Given the description of an element on the screen output the (x, y) to click on. 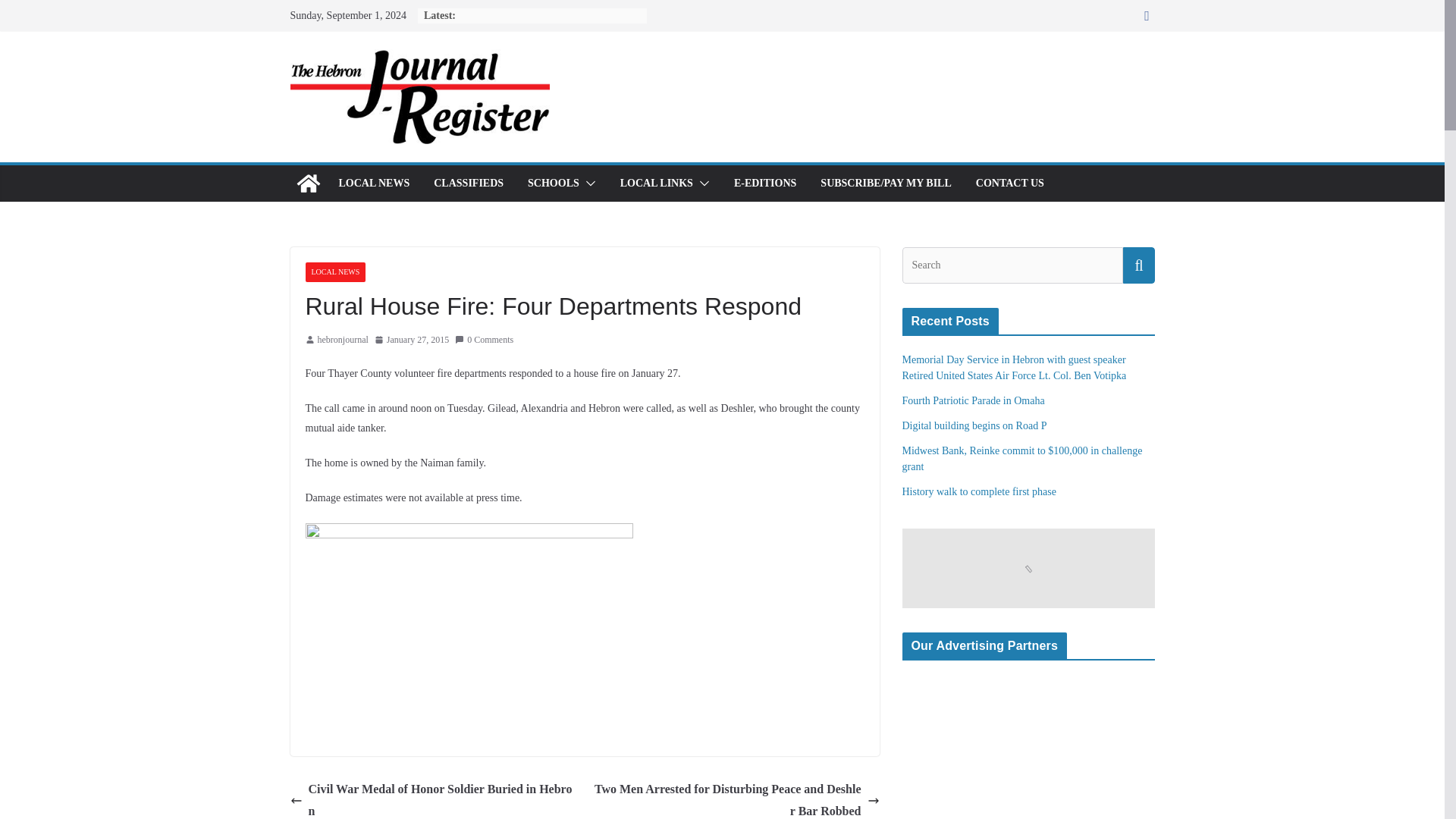
CLASSIFIEDS (468, 183)
E-EDITIONS (764, 183)
LOCAL LINKS (656, 183)
SCHOOLS (553, 183)
hebronjournal (342, 340)
LOCAL NEWS (373, 183)
Civil War Medal of Honor Soldier Buried in Hebron (432, 798)
LOCAL NEWS (334, 271)
Hebron Journal Register (307, 183)
0 Comments (483, 340)
